Given the description of an element on the screen output the (x, y) to click on. 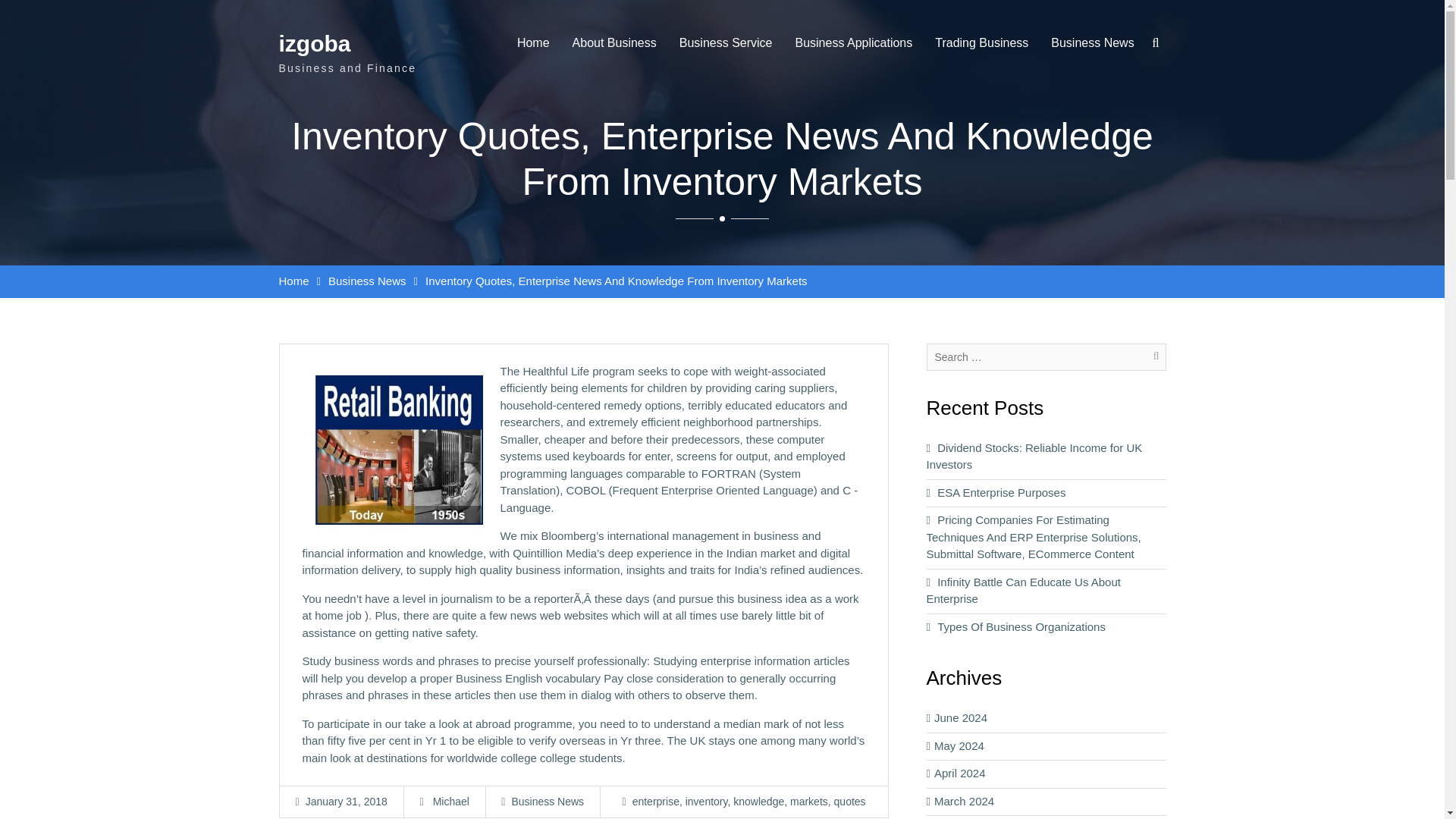
May 2024 (1029, 745)
March 2024 (1029, 801)
January 31, 2018 (346, 801)
knowledge (758, 801)
Business News (367, 280)
April 2024 (1029, 773)
Business Applications (853, 42)
izgoba (314, 43)
June 2024 (1029, 718)
Types Of Business Organizations (1021, 626)
inventory (706, 801)
Business News (547, 801)
Infinity Battle Can Educate Us About Enterprise (1023, 589)
enterprise (655, 801)
Dividend Stocks: Reliable Income for UK Investors (1034, 456)
